Given the description of an element on the screen output the (x, y) to click on. 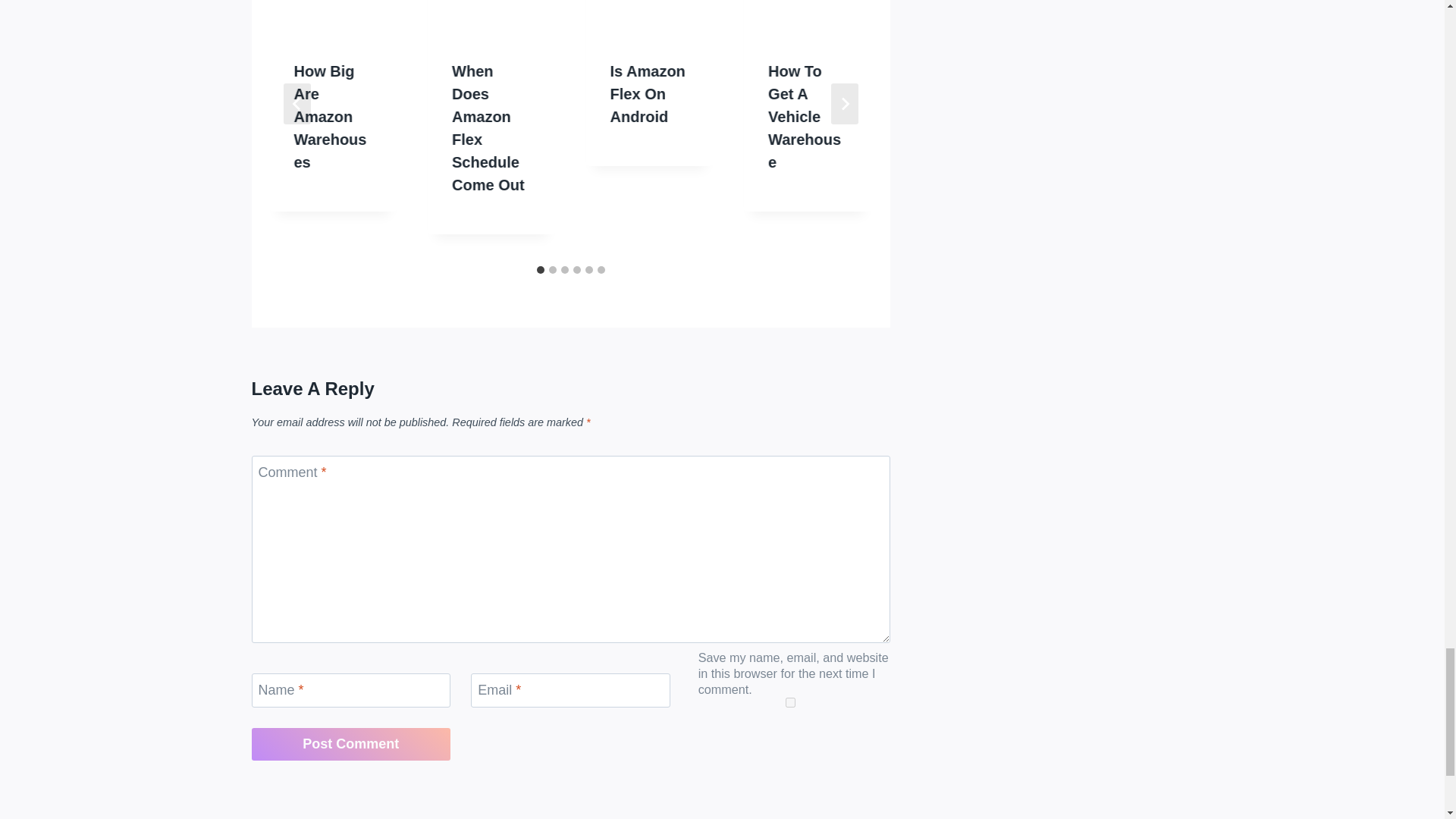
Post Comment (351, 744)
yes (789, 702)
